Given the description of an element on the screen output the (x, y) to click on. 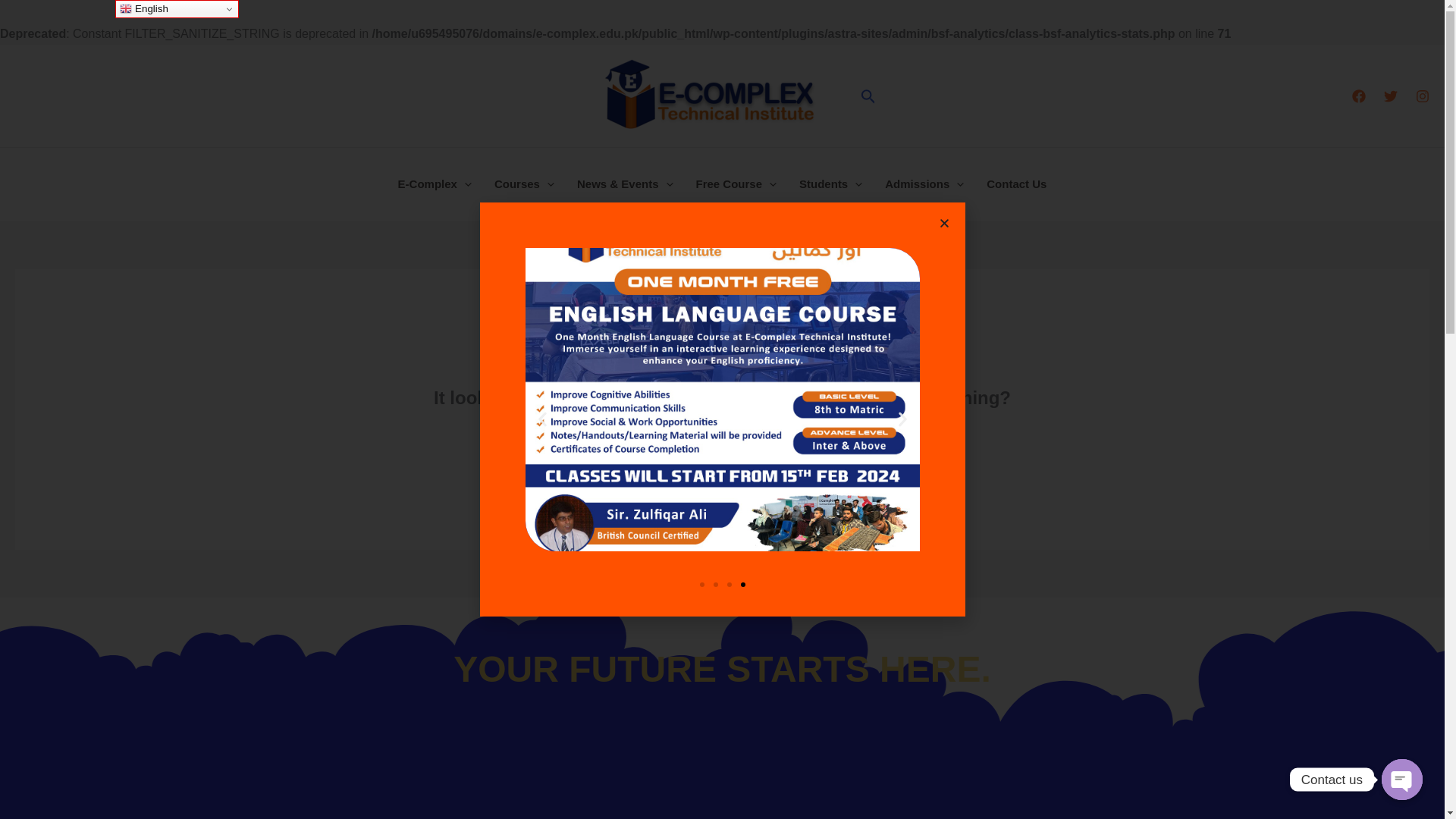
Free Course (735, 184)
Search (844, 459)
Search (844, 459)
Search (868, 95)
Students (830, 184)
Courses (524, 184)
E-Complex (435, 184)
